Given the description of an element on the screen output the (x, y) to click on. 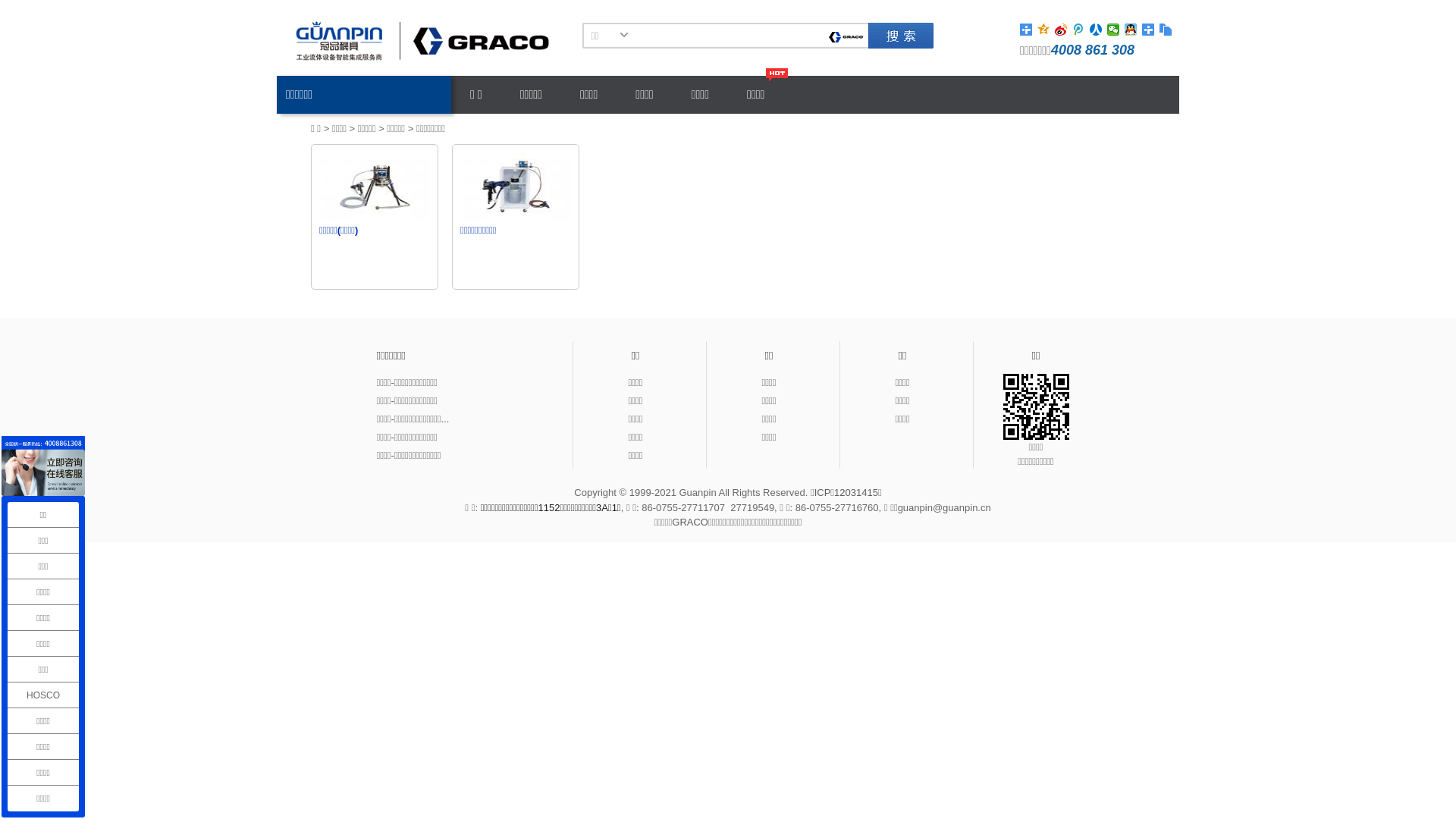
GRACO Element type: text (689, 521)
